Given the description of an element on the screen output the (x, y) to click on. 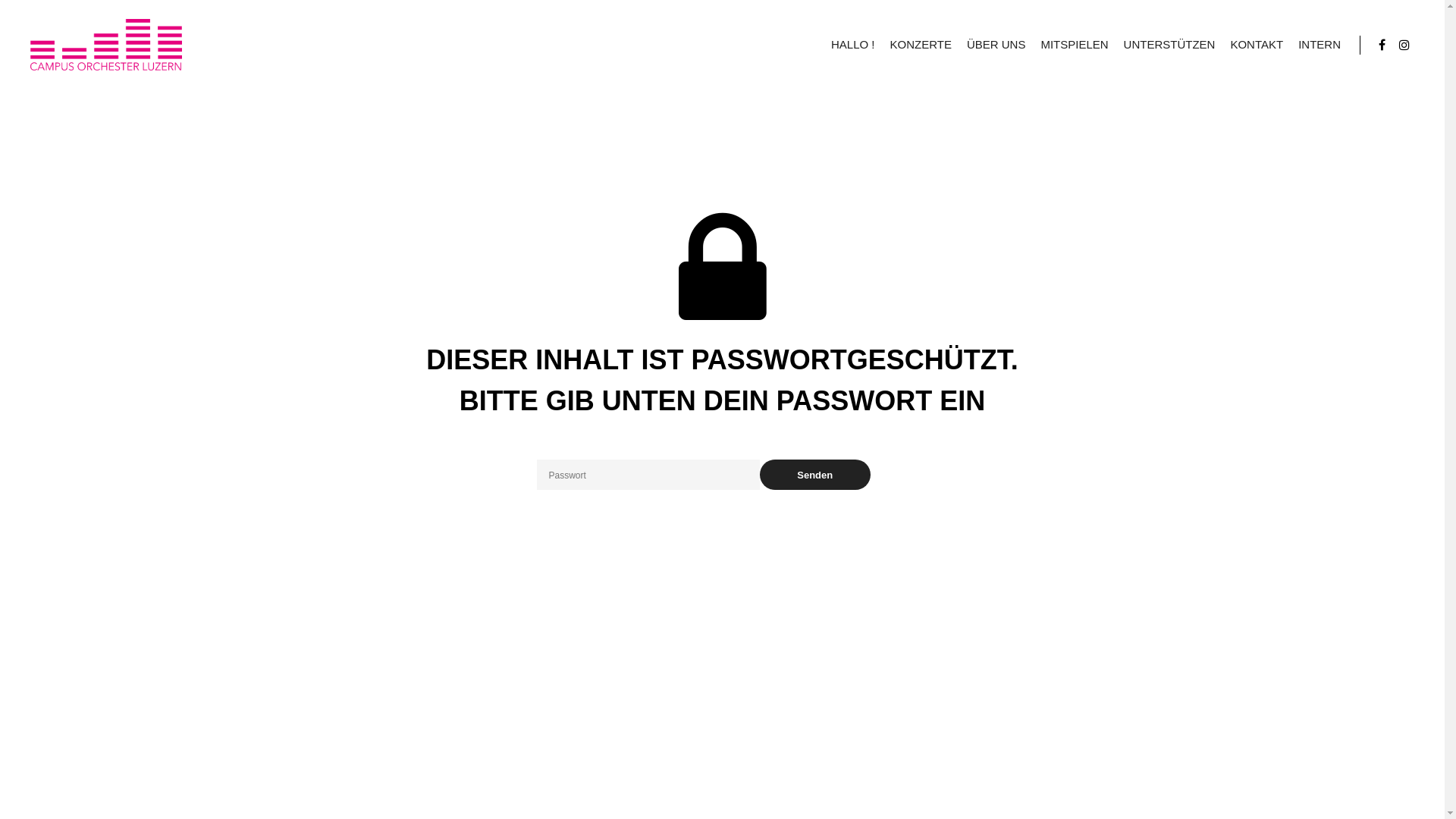
Facebook Element type: hover (1381, 44)
Senden Element type: text (815, 474)
HALLO ! Element type: text (852, 44)
KONTAKT Element type: text (1256, 44)
KONZERTE Element type: text (919, 44)
Instagram Element type: hover (1404, 44)
MITSPIELEN Element type: text (1073, 44)
Campus Orchester Luzern Element type: hover (106, 44)
INTERN Element type: text (1319, 44)
